Given the description of an element on the screen output the (x, y) to click on. 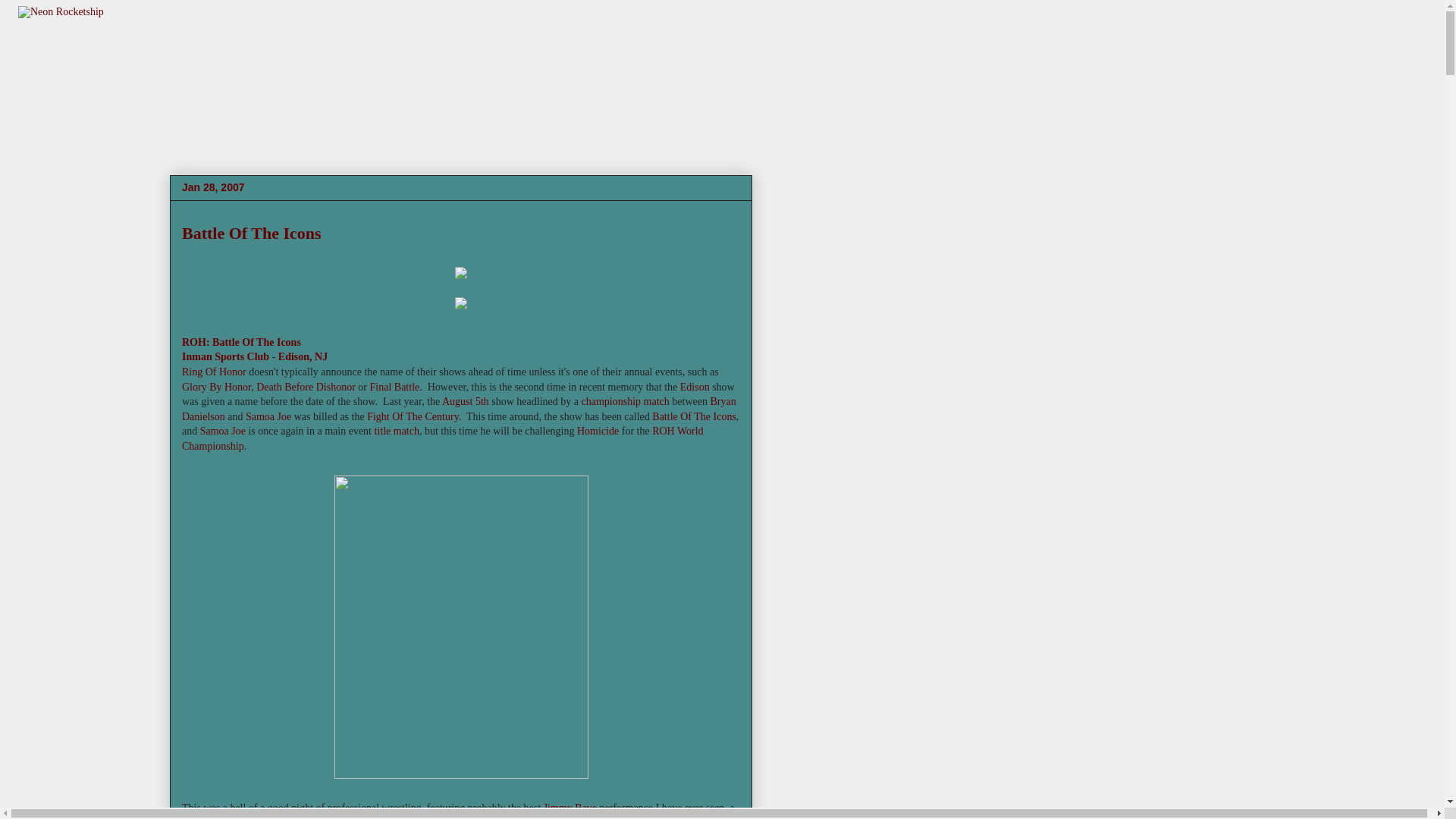
Kings Of Wrestling (557, 817)
Final Battle (394, 387)
Ring Of Honor (214, 371)
Homicide (597, 430)
ROH: Battle Of The Icons (241, 342)
Bryan Danielson (459, 408)
Edison, NJ (302, 356)
Jimmy Rave (569, 808)
Christopher Daniels (380, 817)
Glory By Honor (216, 387)
Samoa Joe (223, 430)
championship match (624, 401)
Fight Of The Century (412, 416)
Death Before Dishonor (305, 387)
ROH World Championship (442, 438)
